Given the description of an element on the screen output the (x, y) to click on. 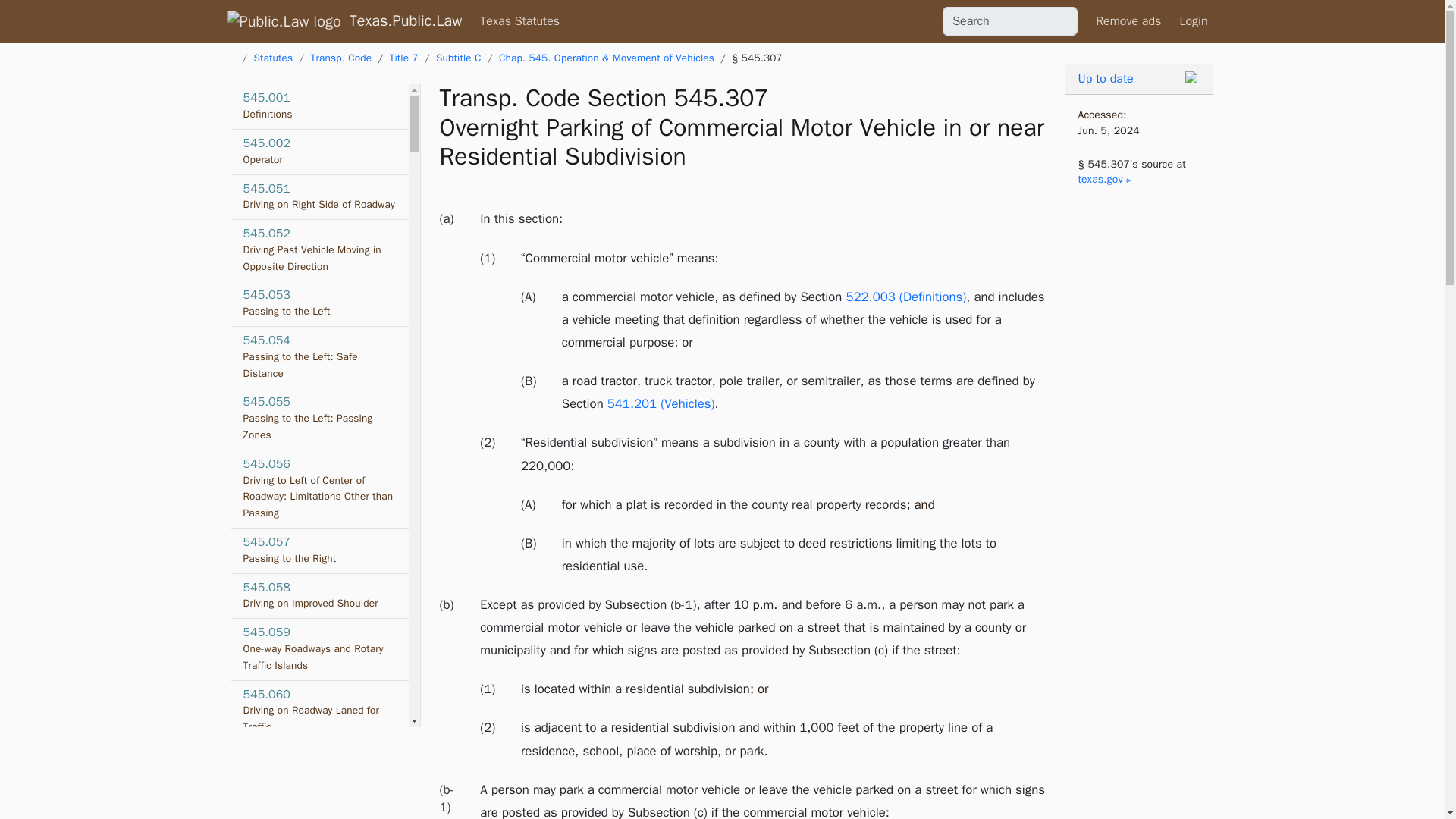
Texas Statutes (319, 250)
Login (319, 303)
Transp. Code (319, 418)
